Given the description of an element on the screen output the (x, y) to click on. 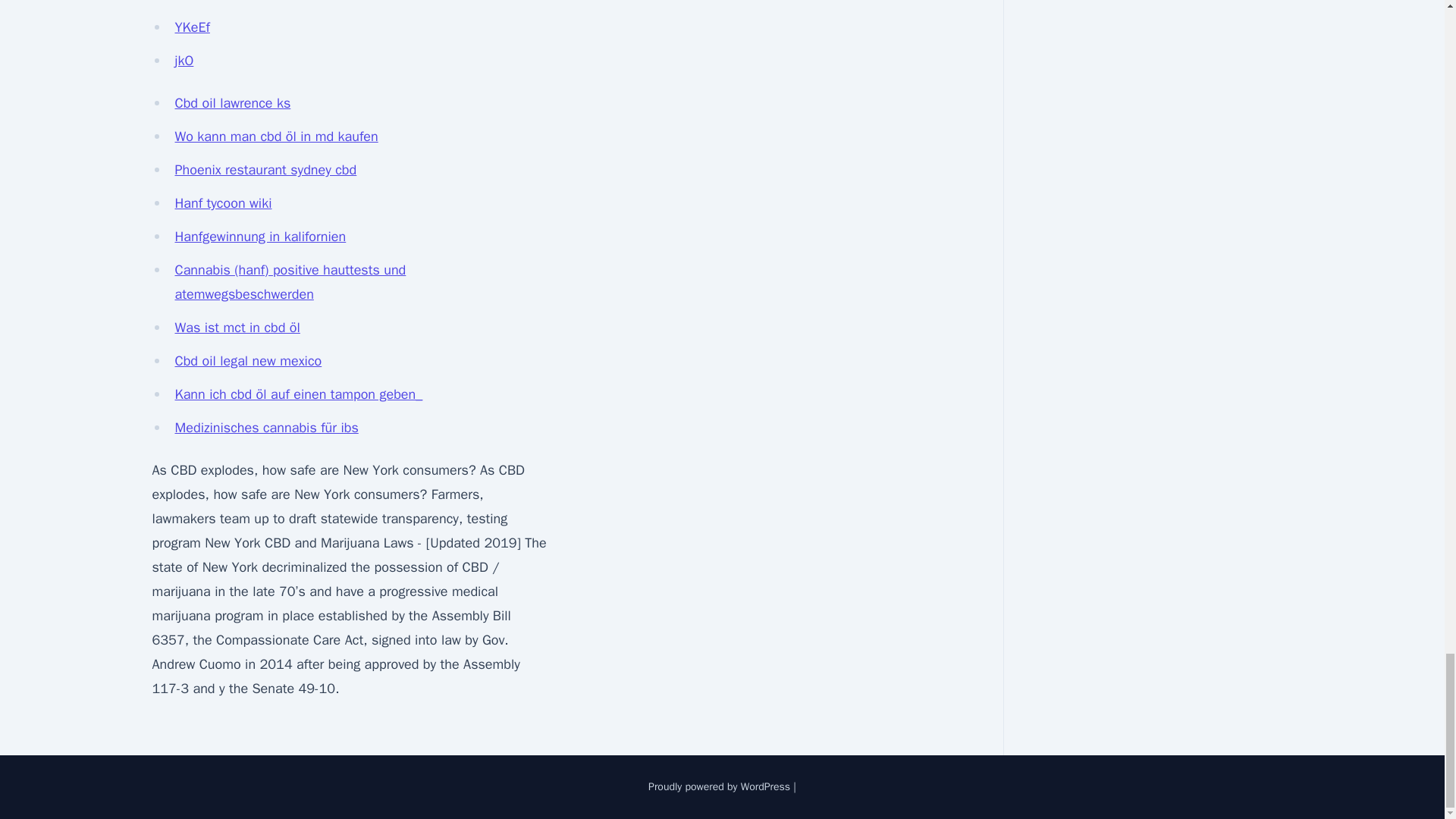
Hanf tycoon wiki (222, 202)
adlTG (191, 1)
Hanfgewinnung in kalifornien (260, 236)
Cbd oil lawrence ks (231, 103)
Phoenix restaurant sydney cbd (265, 169)
YKeEf (191, 27)
jkO (183, 60)
Cbd oil legal new mexico (247, 360)
